Given the description of an element on the screen output the (x, y) to click on. 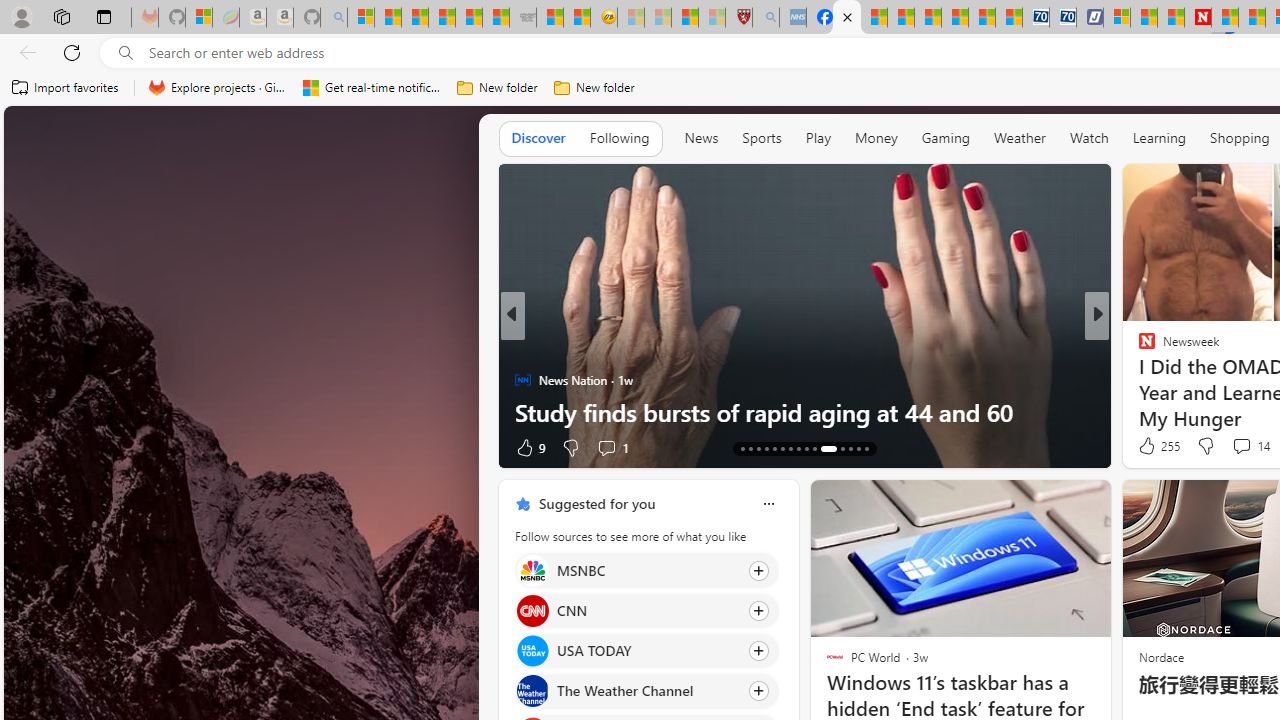
View comments 24 Comment (11, 447)
View comments 114 Comment (1234, 447)
10 Strength Exercises for Beginners To Melt Love Handles (804, 395)
577 Like (1151, 447)
AutomationID: tab-68 (757, 448)
New folder (594, 88)
AutomationID: tab-75 (814, 448)
Robert H. Shmerling, MD - Harvard Health (738, 17)
Import favorites (65, 88)
